Given the description of an element on the screen output the (x, y) to click on. 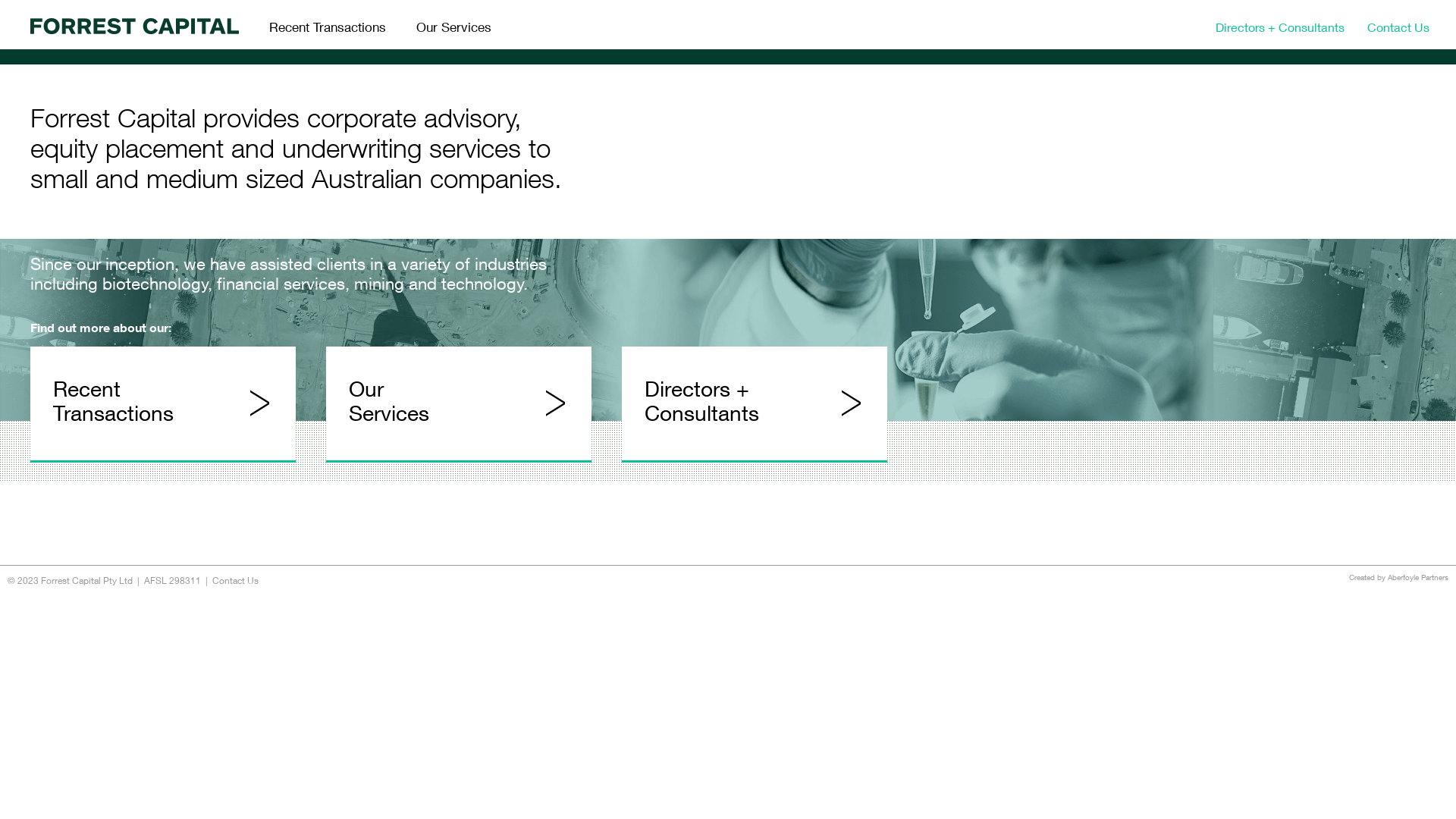
Our Services Element type: text (453, 24)
Forrest Capital Element type: hover (136, 24)
Contact Us Element type: text (235, 580)
Recent Transactions Element type: text (162, 404)
Directors + Consultants Element type: text (1279, 24)
Our Services Element type: text (458, 404)
Contact Us Element type: text (1397, 24)
Directors + Consultants Element type: text (754, 404)
